Given the description of an element on the screen output the (x, y) to click on. 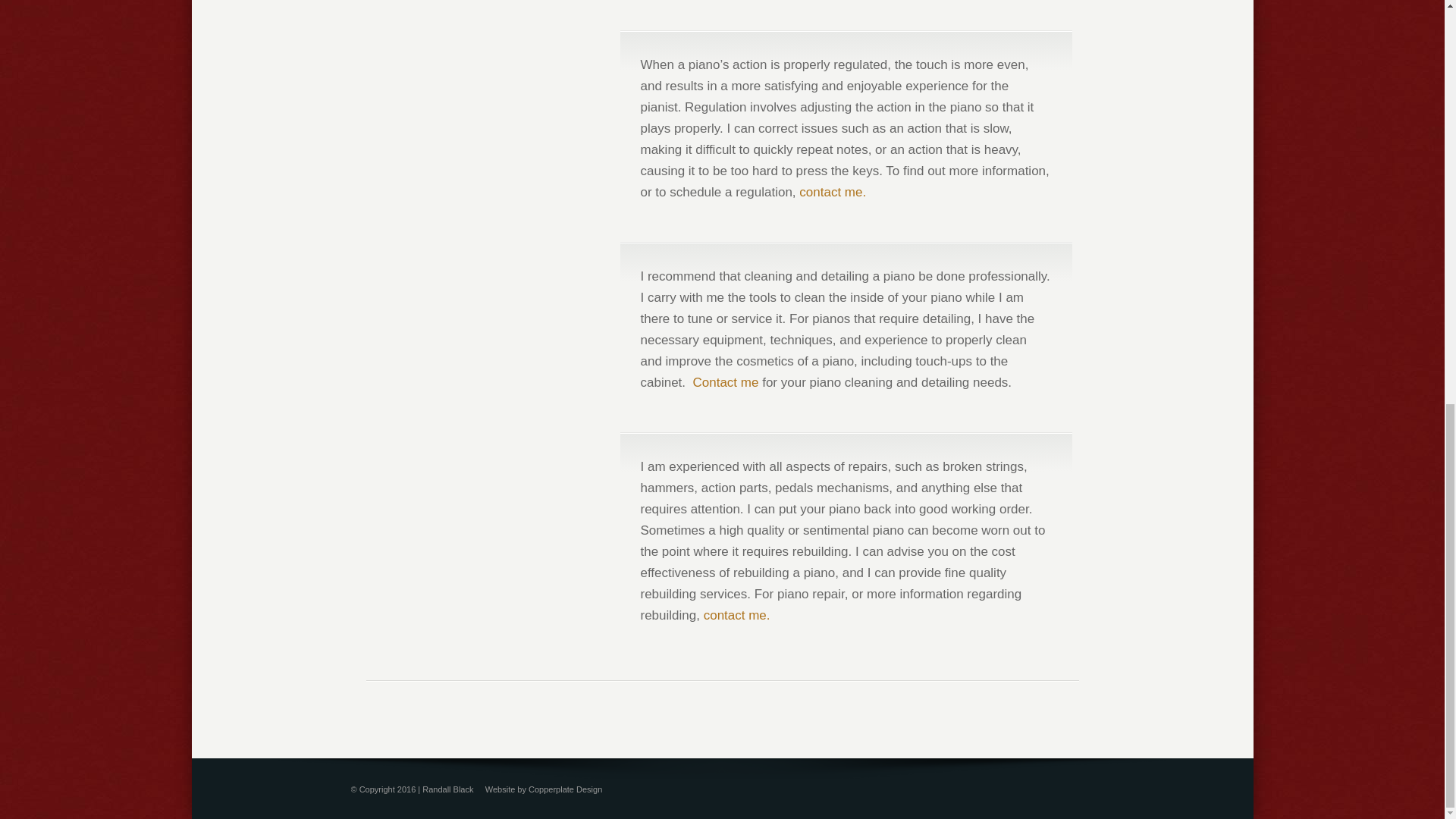
Contact me (725, 382)
contact me. (736, 615)
Contact (736, 615)
contact me. (832, 192)
Contact (725, 382)
Contact (832, 192)
